Given the description of an element on the screen output the (x, y) to click on. 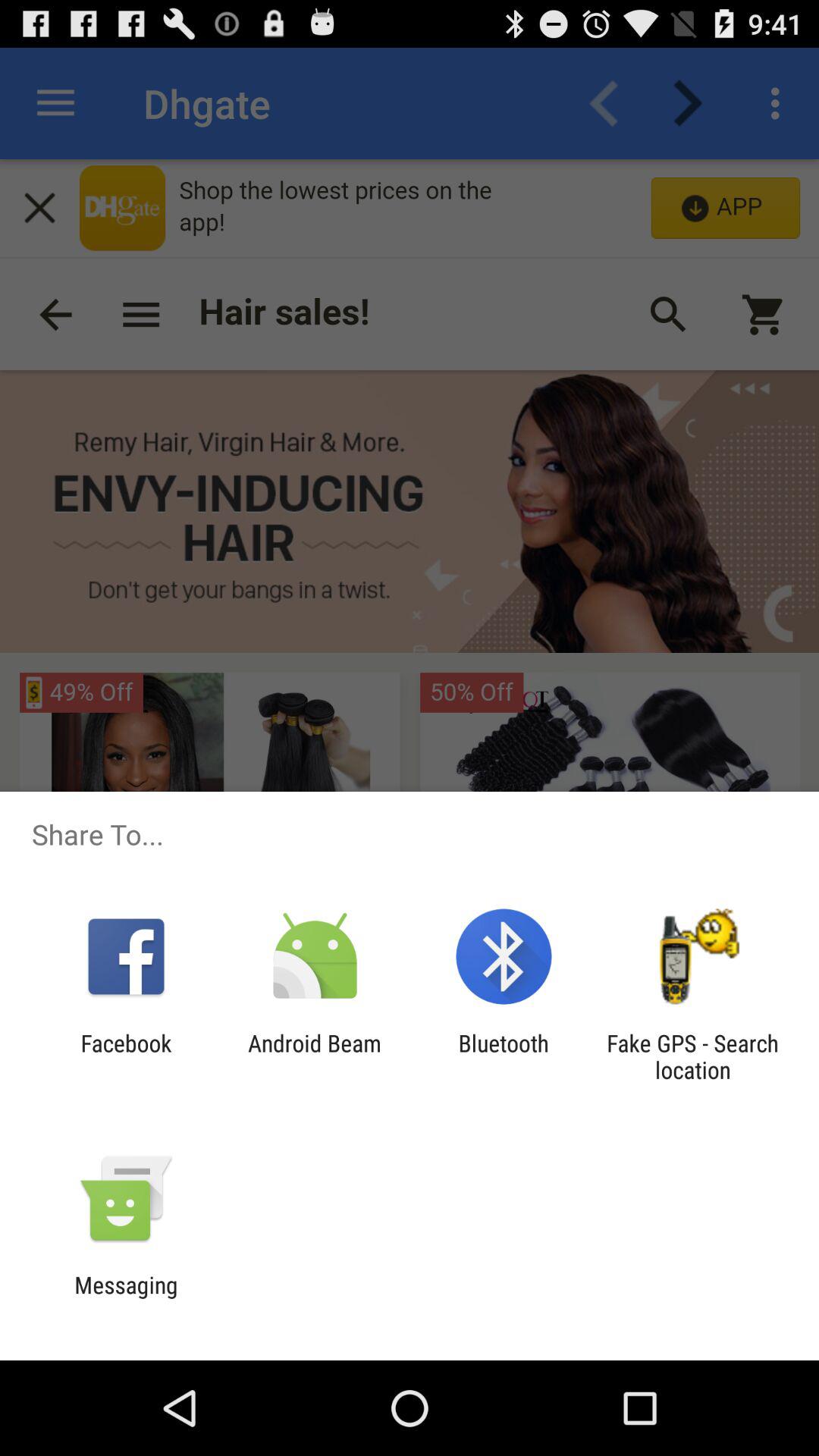
select the item to the right of the facebook item (314, 1056)
